Given the description of an element on the screen output the (x, y) to click on. 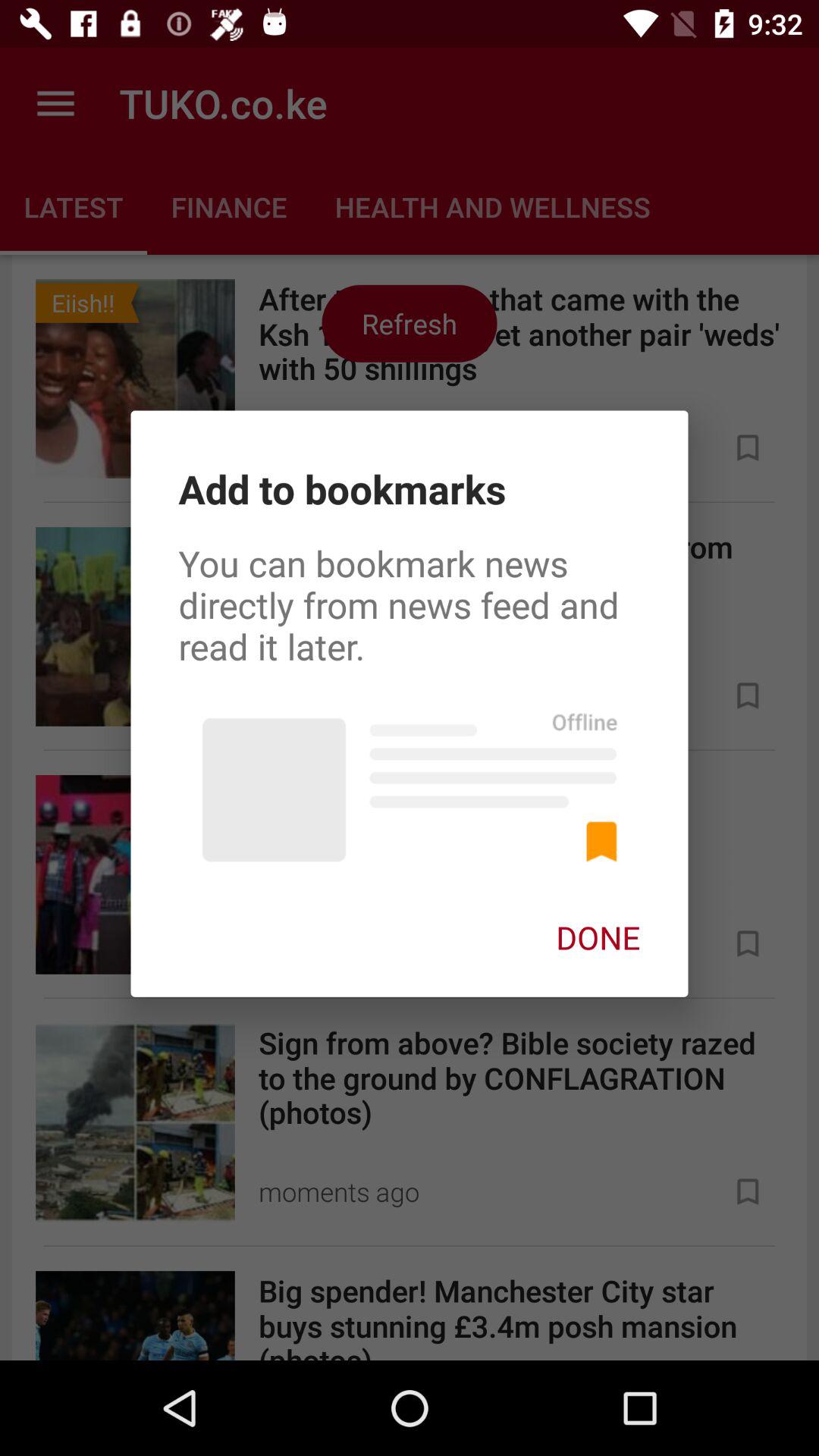
scroll to done (598, 936)
